Given the description of an element on the screen output the (x, y) to click on. 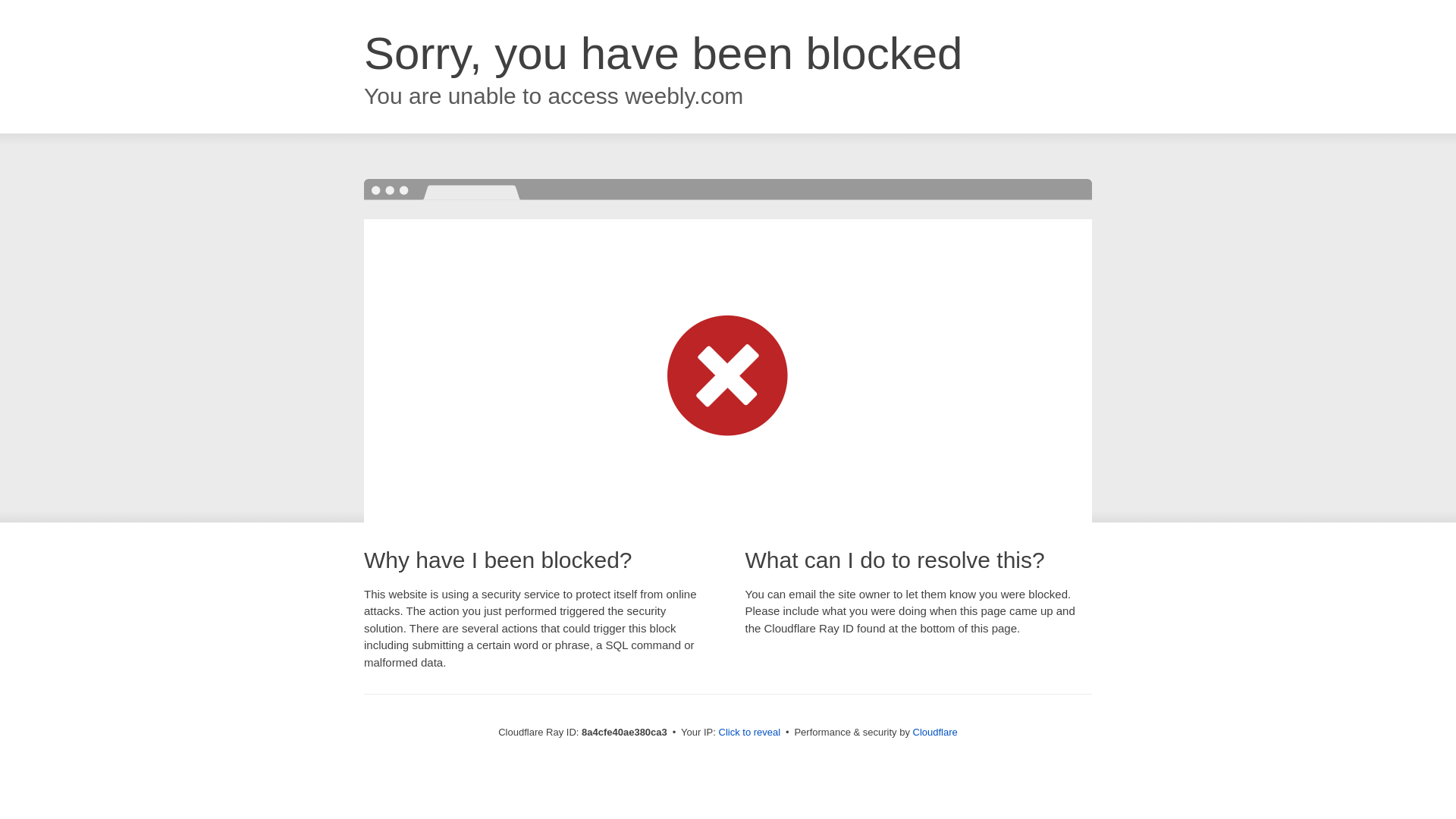
Click to reveal (749, 732)
Cloudflare (935, 731)
